Given the description of an element on the screen output the (x, y) to click on. 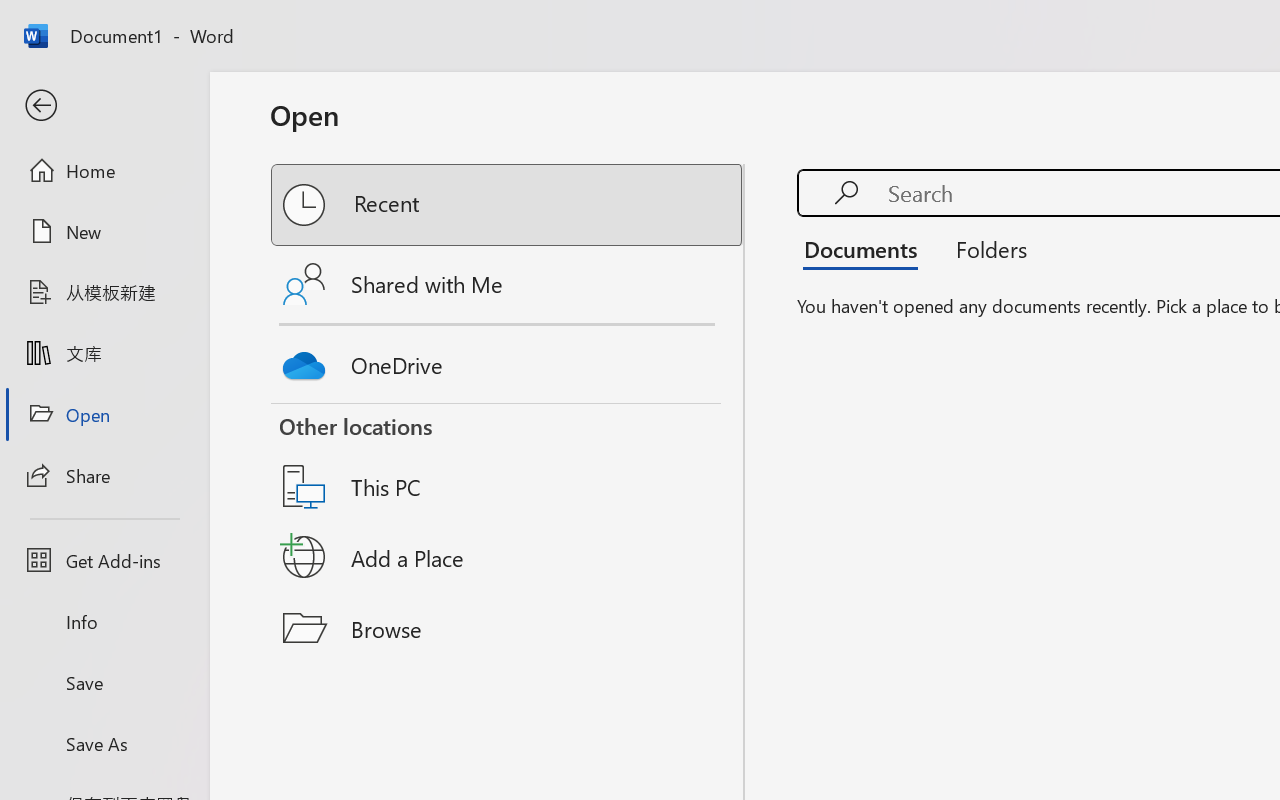
Documents (866, 248)
Get Add-ins (104, 560)
Browse (507, 627)
